Given the description of an element on the screen output the (x, y) to click on. 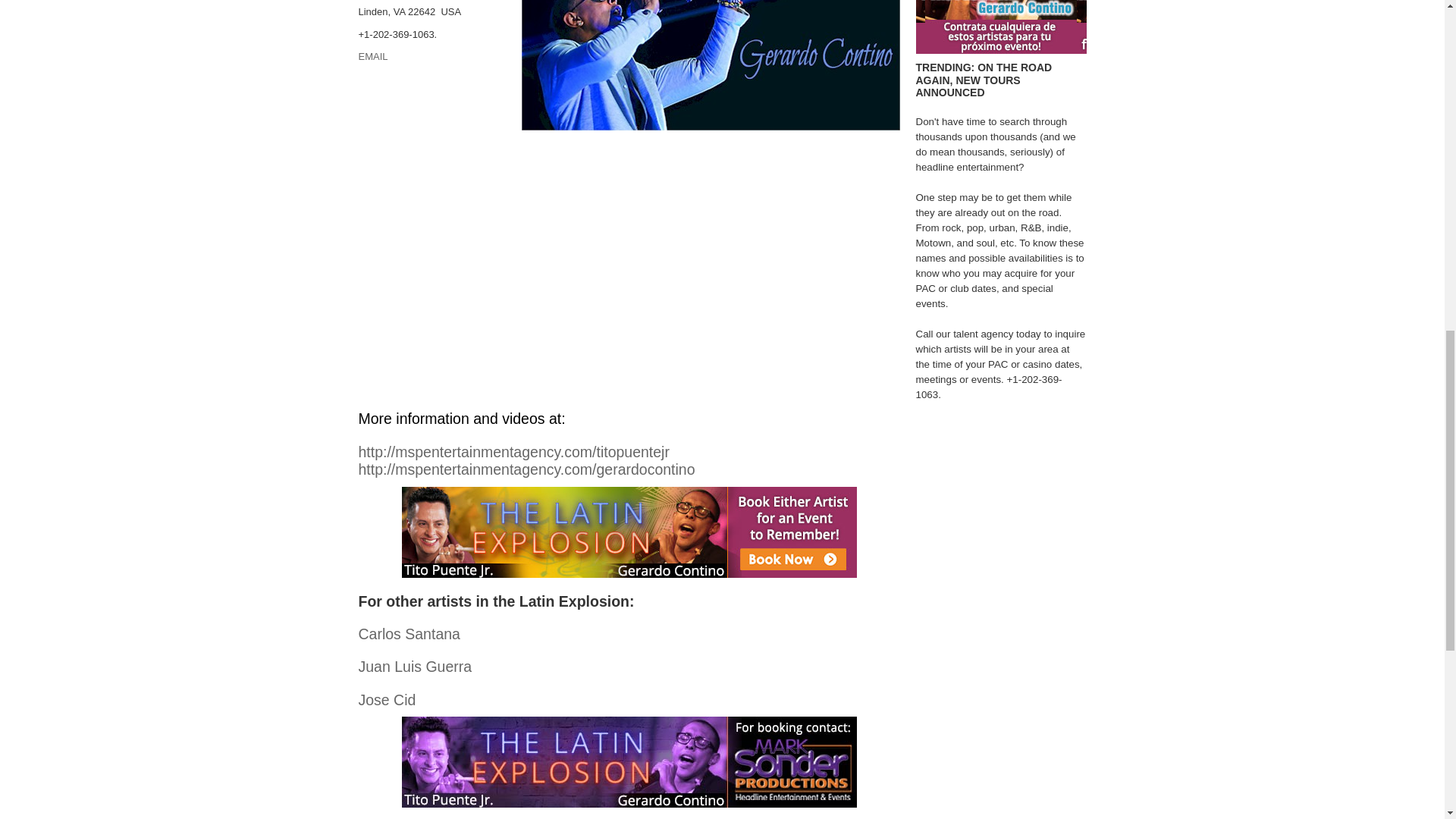
EMAIL (372, 56)
